Given the description of an element on the screen output the (x, y) to click on. 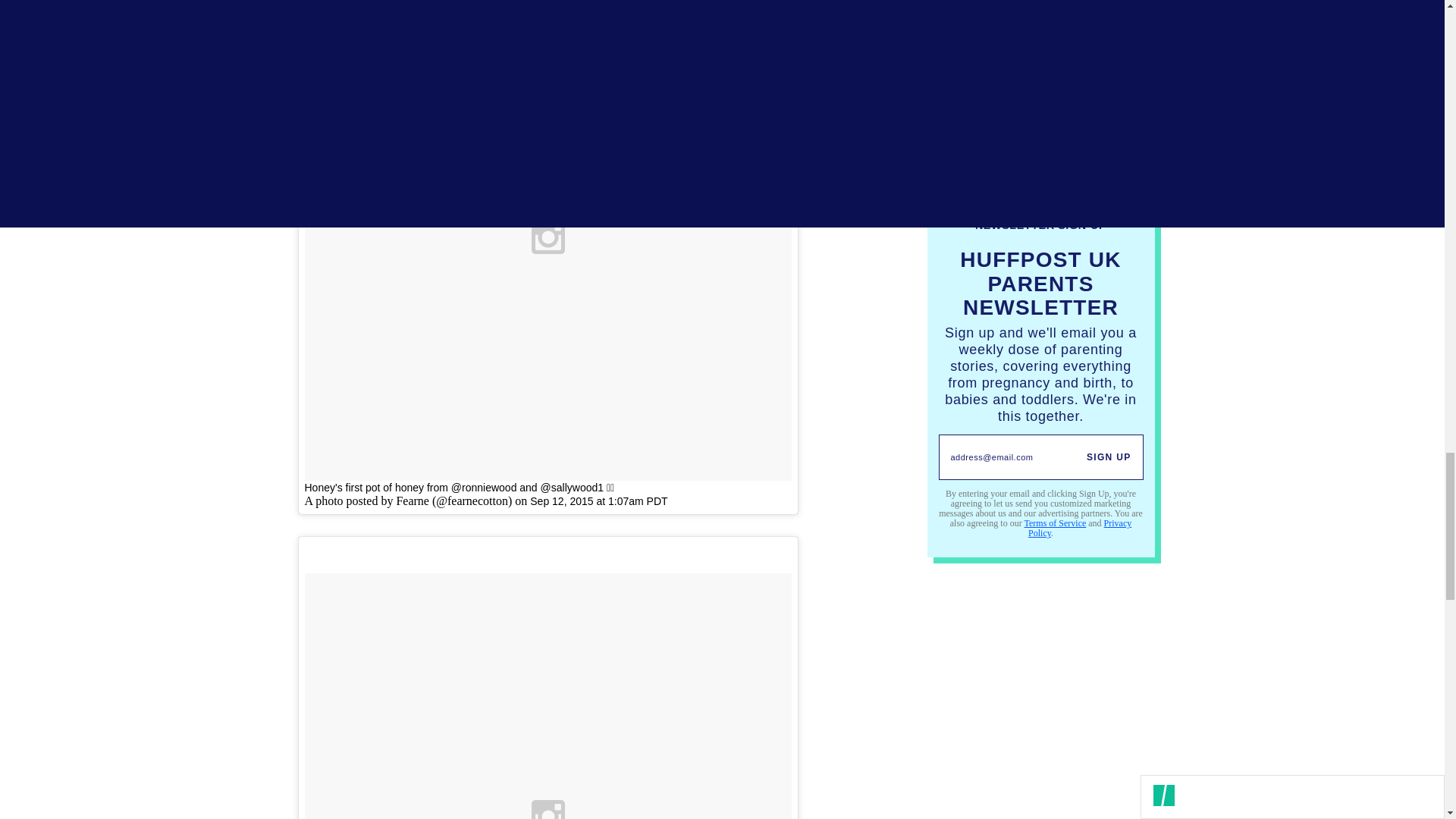
SIGN UP (1108, 456)
